Given the description of an element on the screen output the (x, y) to click on. 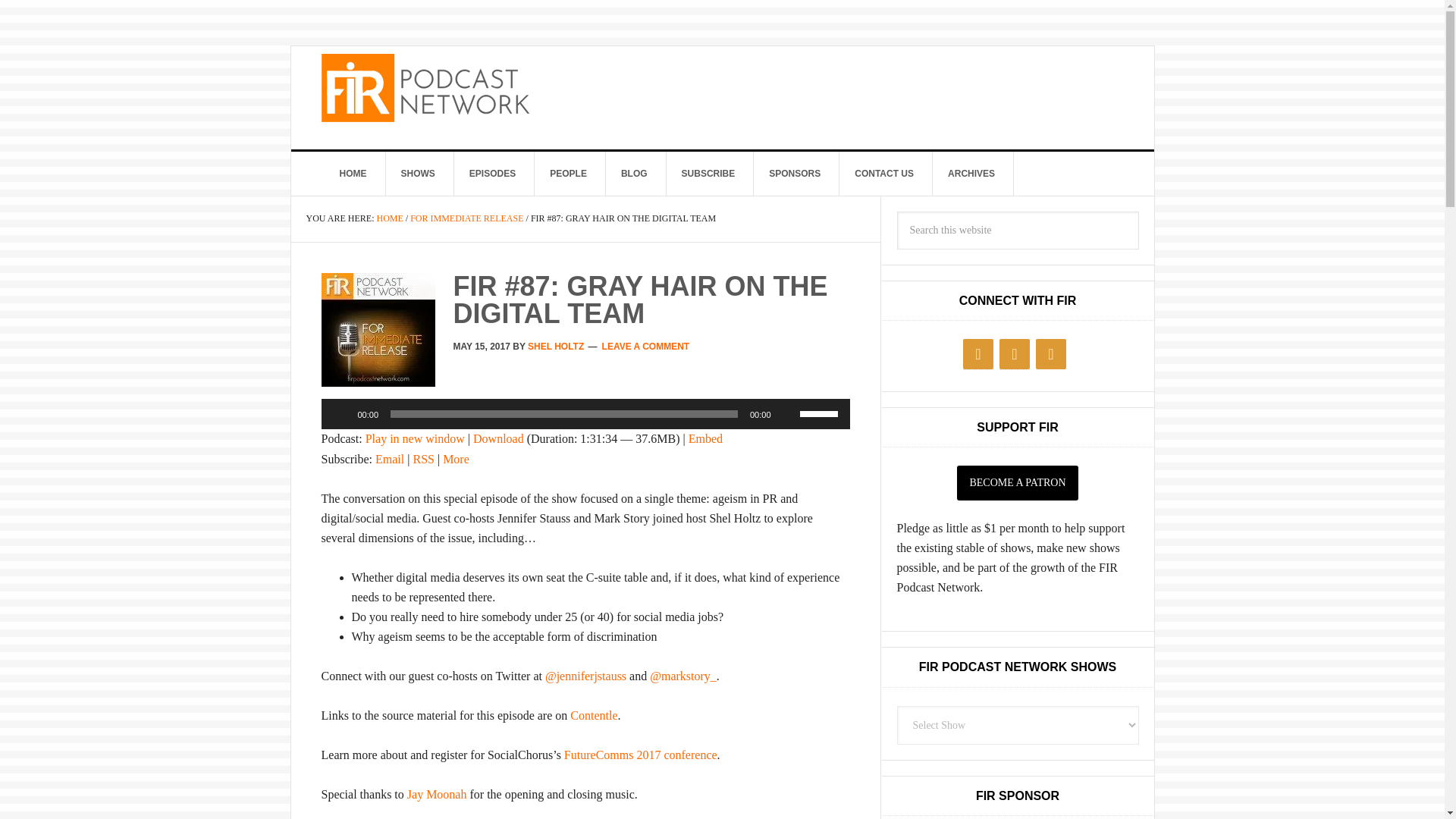
PEOPLE (568, 173)
Download (498, 438)
HOME (389, 217)
Play in new window (414, 438)
FOR IMMEDIATE RELEASE (466, 217)
BLOG (634, 173)
Play (341, 413)
Subscribe by Email (389, 458)
Email (389, 458)
LEAVE A COMMENT (646, 346)
